Given the description of an element on the screen output the (x, y) to click on. 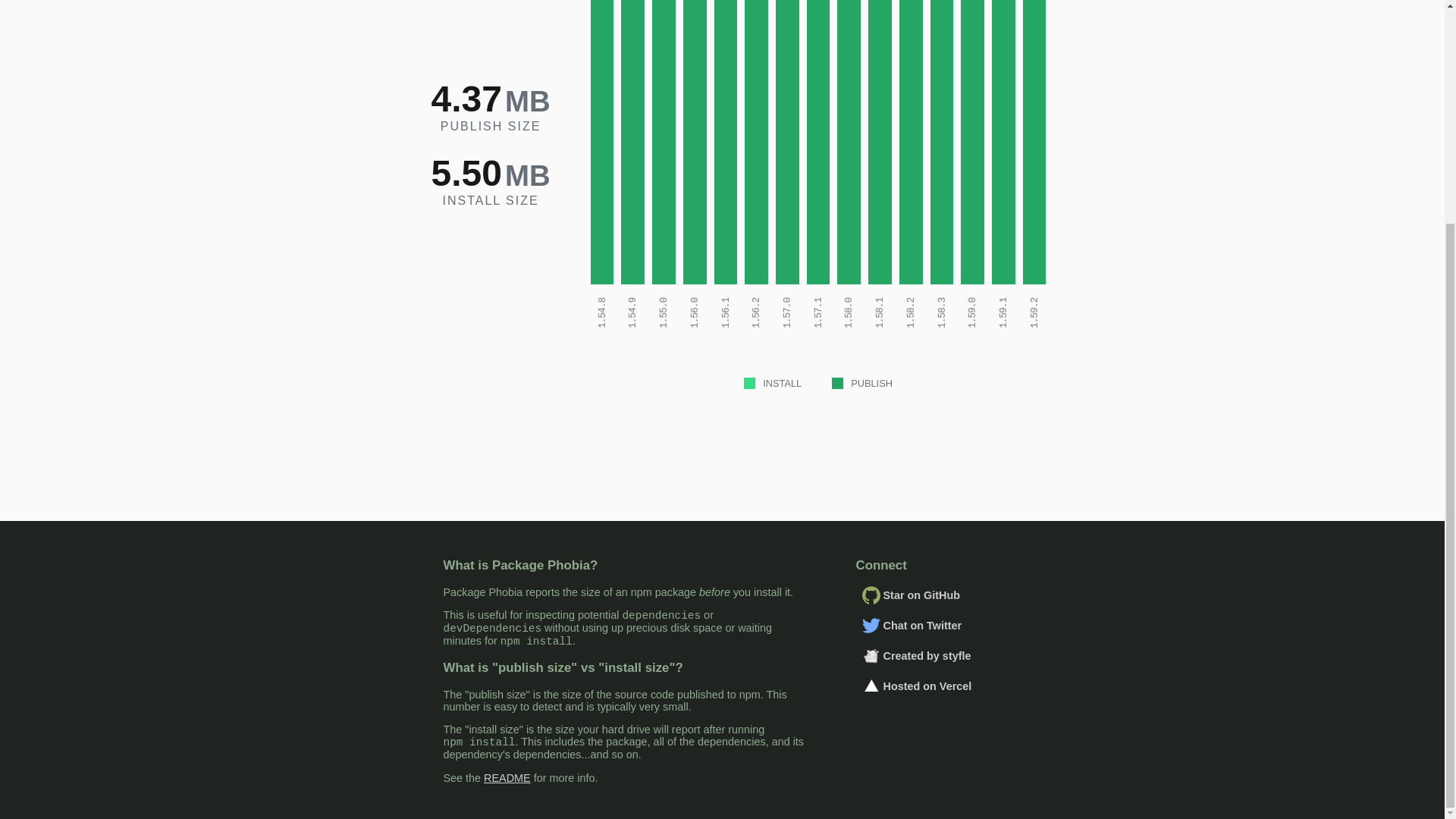
 Hosted on Vercel (927, 686)
README (507, 777)
 Created by styfle (927, 656)
 Star on GitHub (927, 595)
